Given the description of an element on the screen output the (x, y) to click on. 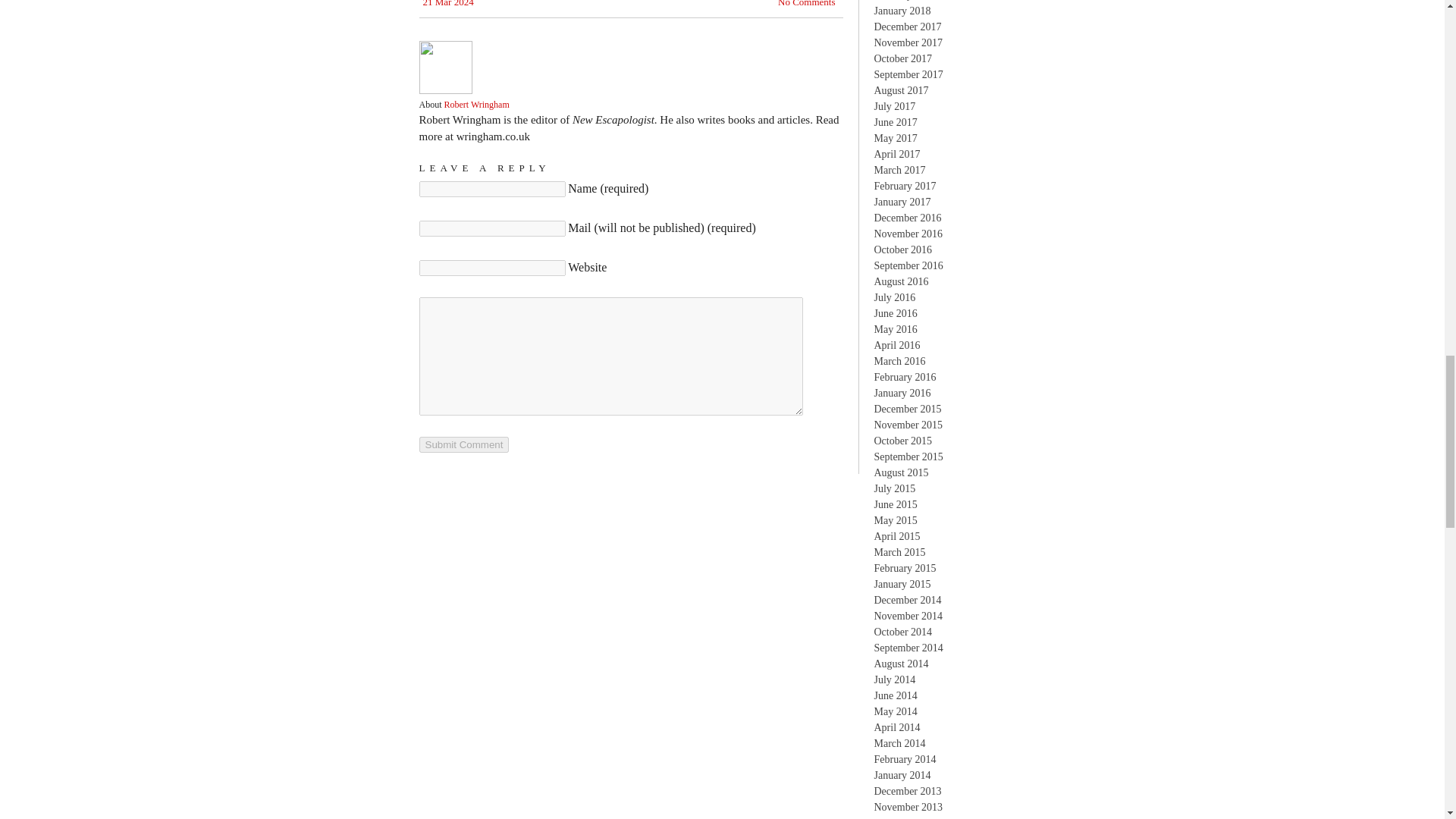
No Comments (805, 3)
Robert Wringham (476, 104)
Posts by Robert Wringham (476, 104)
Submit Comment (463, 444)
Submit Comment (463, 444)
21 Mar 2024 (448, 4)
